Given the description of an element on the screen output the (x, y) to click on. 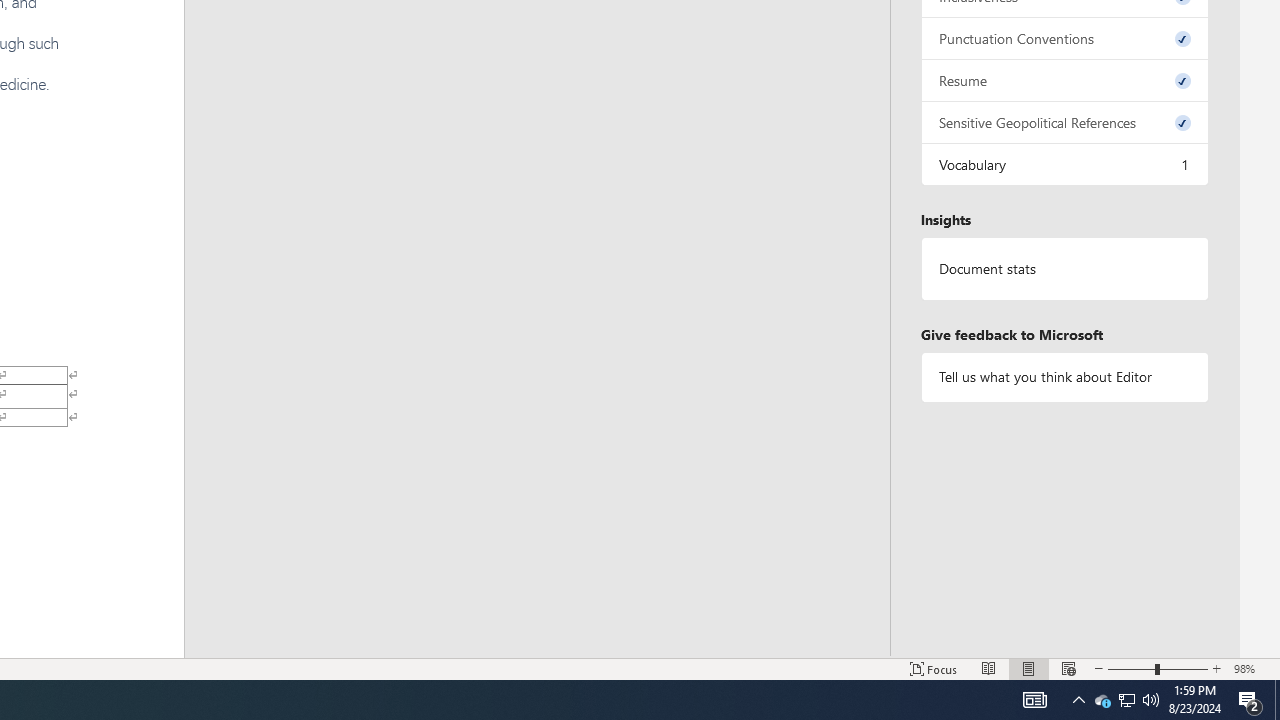
Print Layout (1028, 668)
Zoom (1158, 668)
Read Mode (988, 668)
Zoom In (1217, 668)
Vocabulary, 1 issue. Press space or enter to review items. (1064, 164)
Resume, 0 issues. Press space or enter to review items. (1064, 79)
Document statistics (1064, 269)
Zoom Out (1131, 668)
Tell us what you think about Editor (1064, 376)
Focus  (934, 668)
Web Layout (1069, 668)
